Given the description of an element on the screen output the (x, y) to click on. 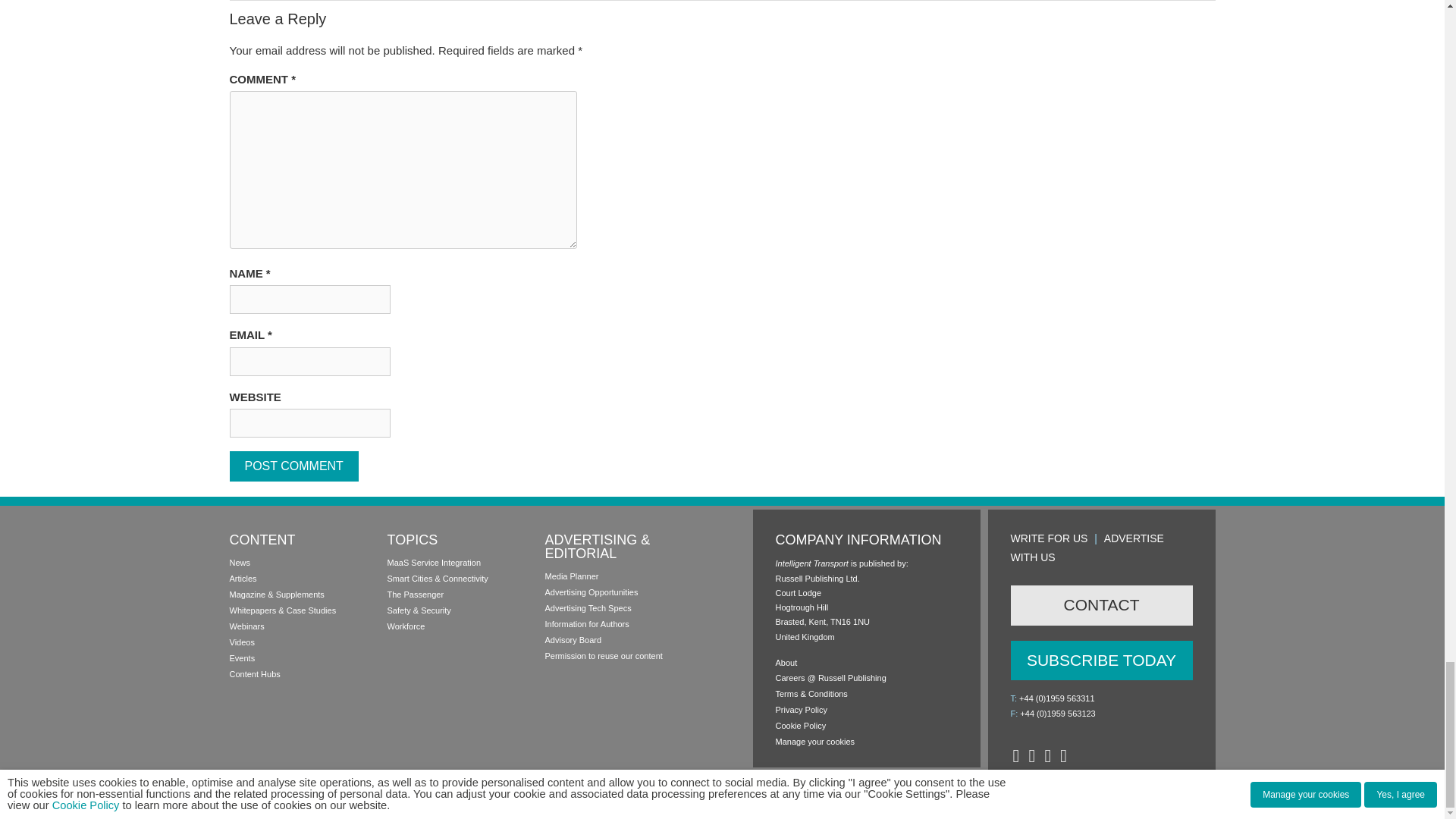
Post Comment (293, 466)
